Given the description of an element on the screen output the (x, y) to click on. 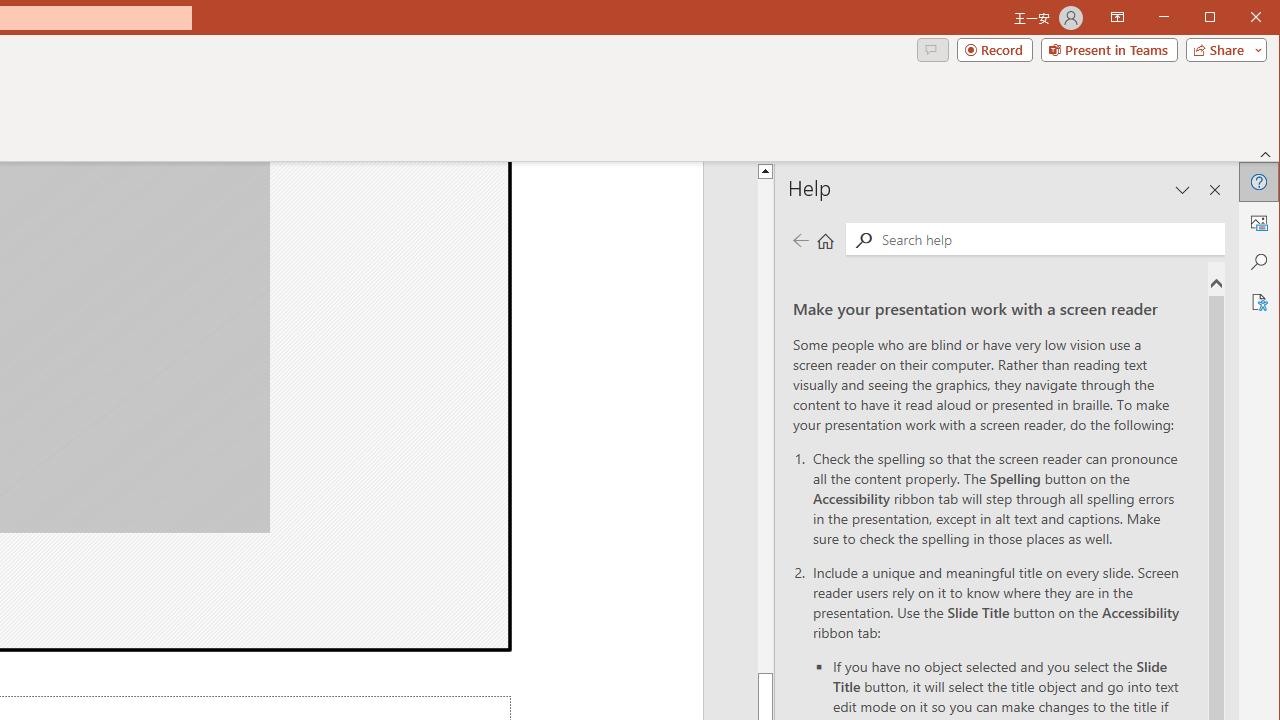
Previous page (800, 240)
